Given the description of an element on the screen output the (x, y) to click on. 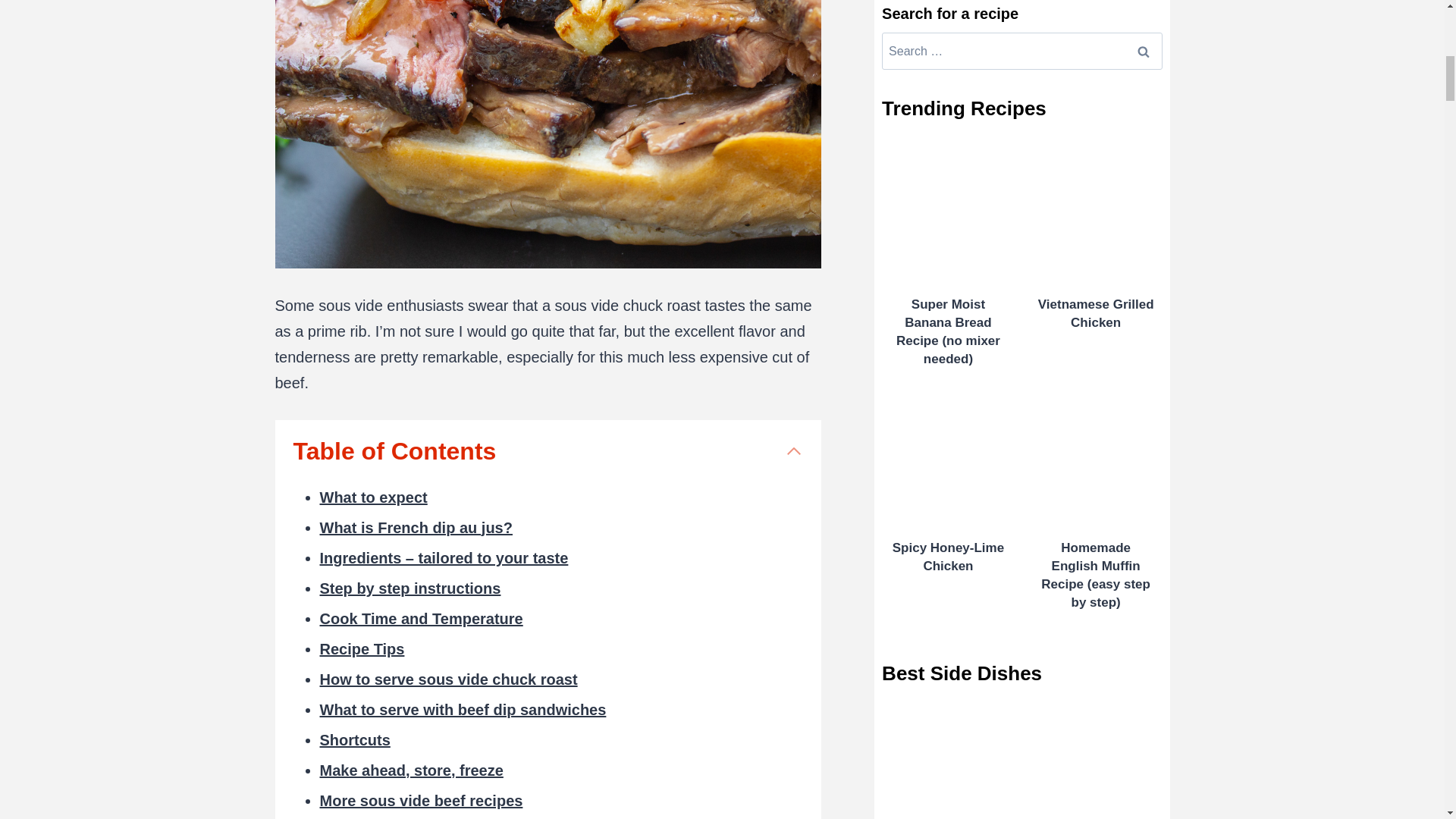
Cook Time and Temperature (421, 618)
How to serve sous vide chuck roast (449, 678)
Search (1142, 50)
What to serve with beef dip sandwiches (463, 709)
What is French dip au jus? (416, 527)
Recipe Tips (362, 648)
More sous vide beef recipes (421, 800)
Make ahead, store, freeze (411, 770)
Shortcuts (355, 740)
What to expect (374, 497)
